Given the description of an element on the screen output the (x, y) to click on. 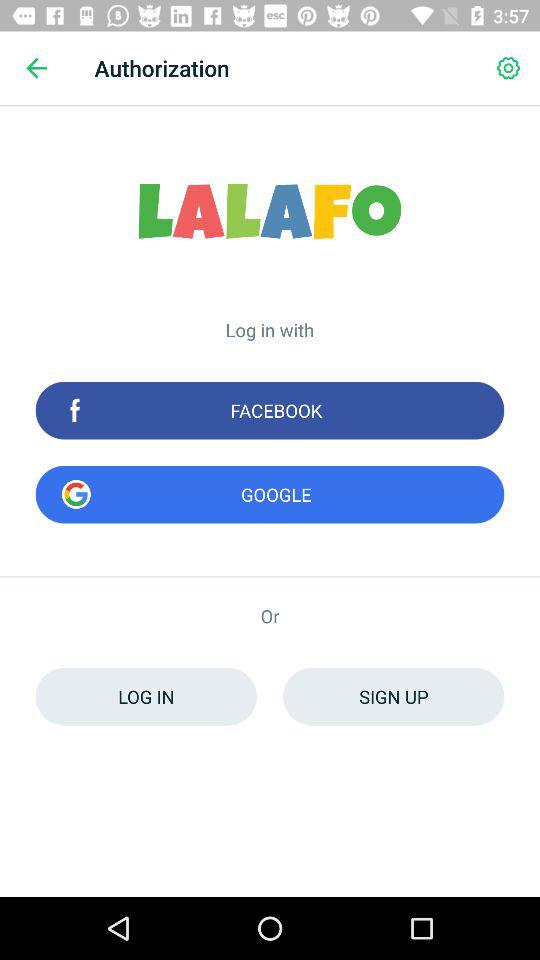
turn off sign up icon (393, 696)
